Given the description of an element on the screen output the (x, y) to click on. 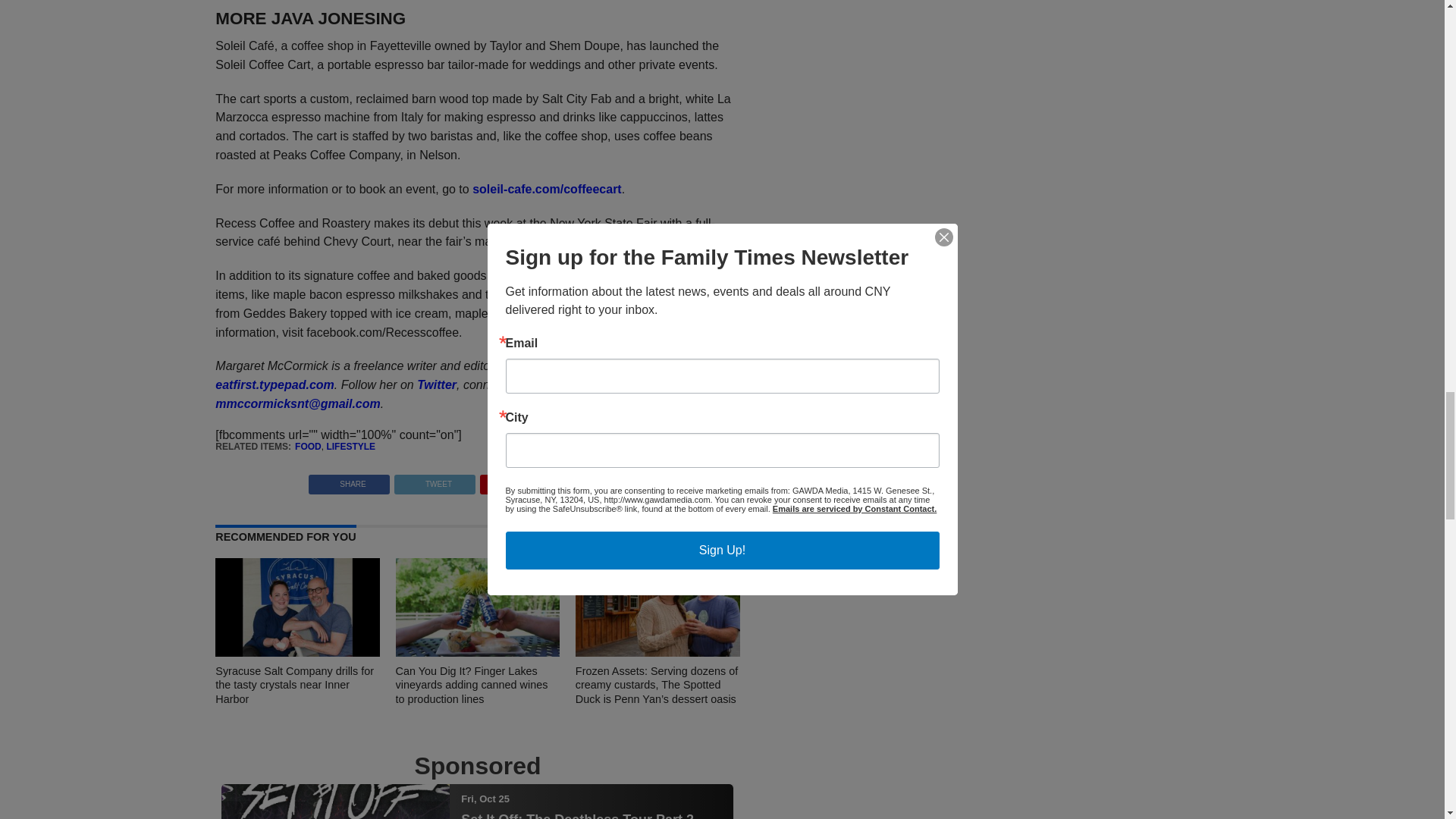
Share on Facebook (349, 480)
Tweet This Post (434, 480)
Pin This Post (520, 480)
